Given the description of an element on the screen output the (x, y) to click on. 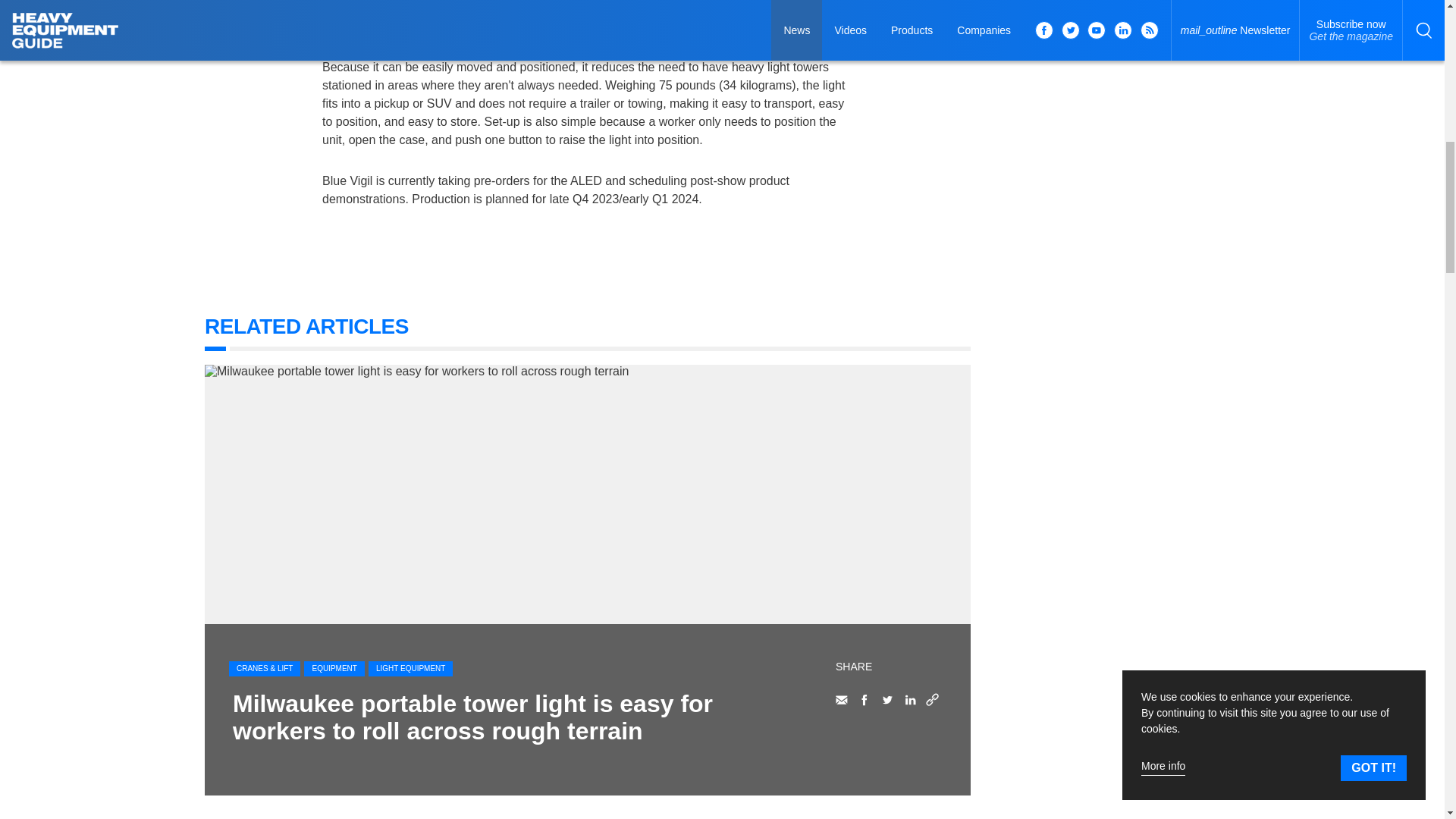
LIGHT EQUIPMENT (410, 668)
EQUIPMENT (334, 668)
